Given the description of an element on the screen output the (x, y) to click on. 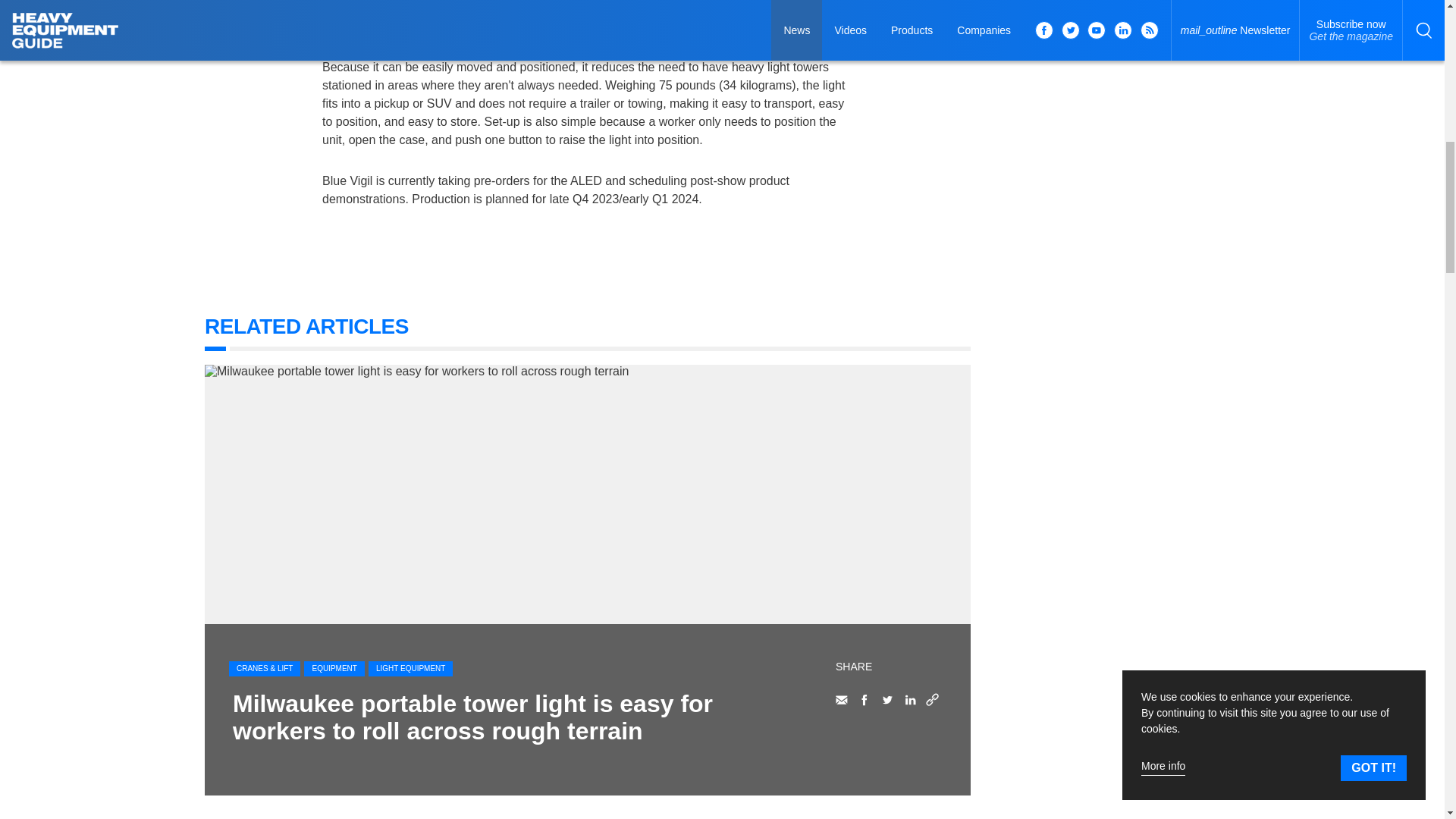
LIGHT EQUIPMENT (410, 668)
EQUIPMENT (334, 668)
